Given the description of an element on the screen output the (x, y) to click on. 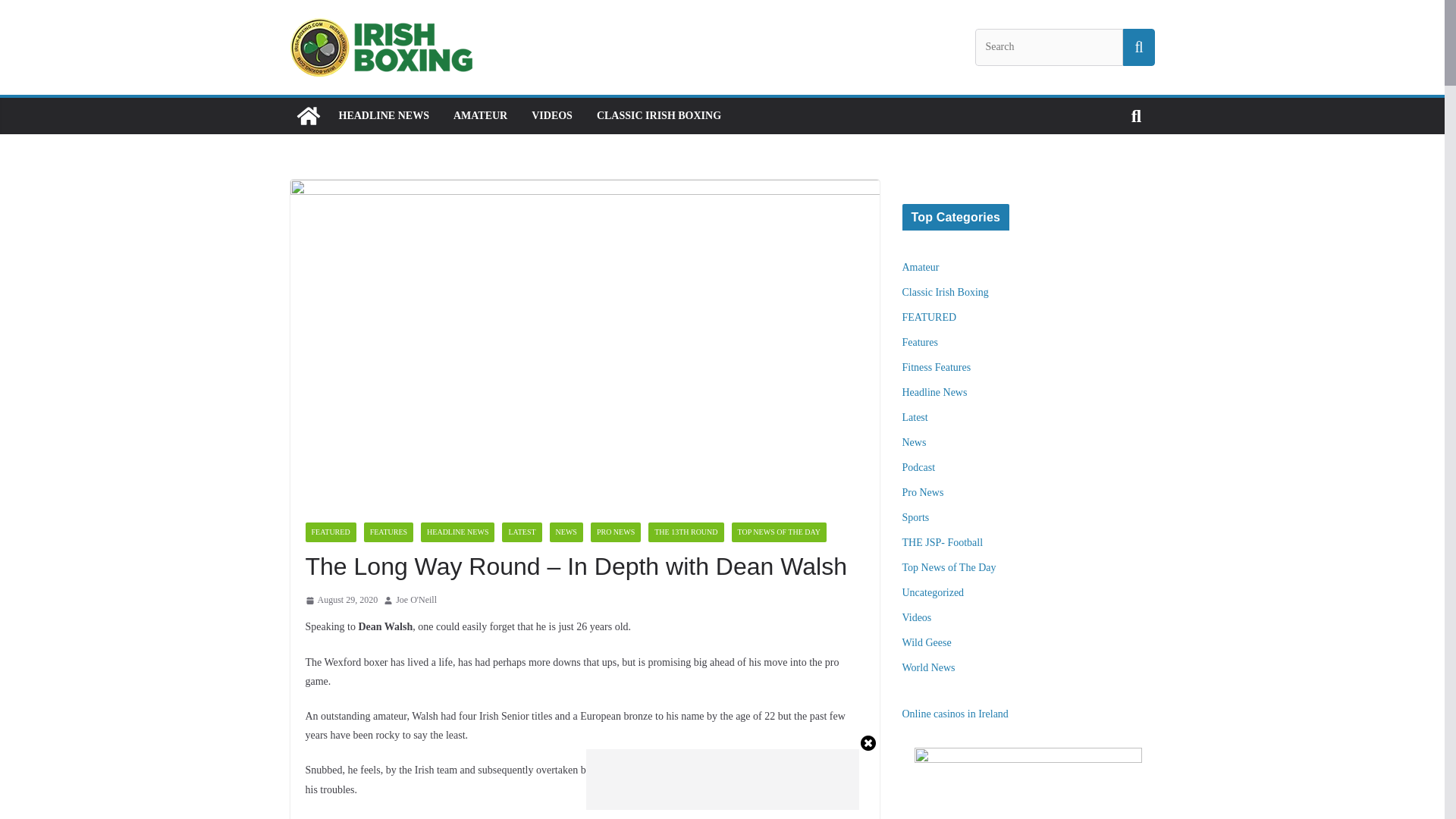
PRO NEWS (615, 532)
HEADLINE NEWS (457, 532)
LATEST (521, 532)
TOP NEWS OF THE DAY (779, 532)
CLASSIC IRISH BOXING (658, 115)
Features (919, 342)
Joe O'Neill (416, 600)
HEADLINE NEWS (382, 115)
Headline News (935, 392)
FEATURED (929, 317)
